Given the description of an element on the screen output the (x, y) to click on. 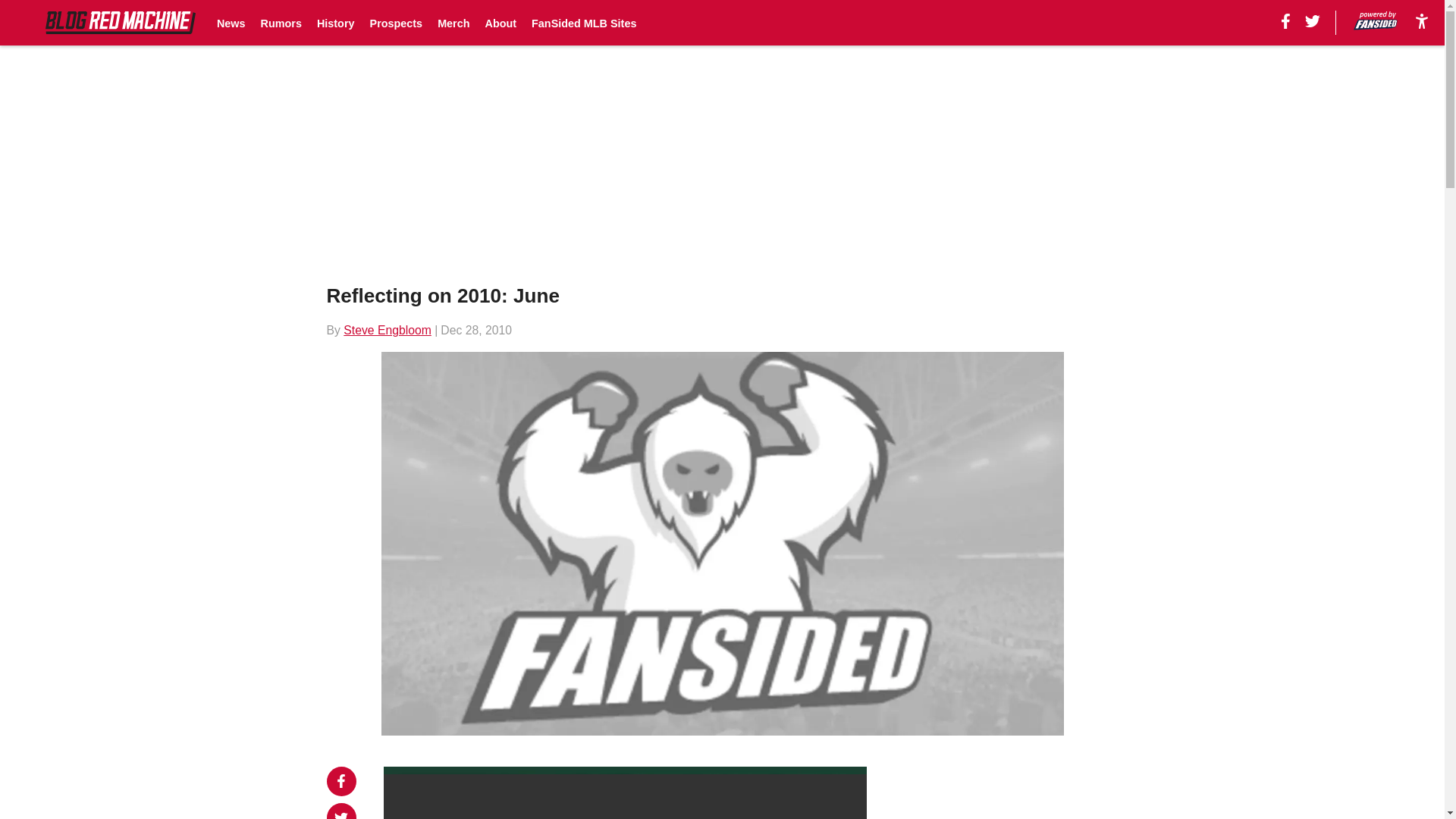
FanSided MLB Sites (583, 23)
History (336, 23)
News (231, 23)
Rumors (280, 23)
Merch (453, 23)
Steve Engbloom (386, 329)
About (500, 23)
Prospects (396, 23)
